Given the description of an element on the screen output the (x, y) to click on. 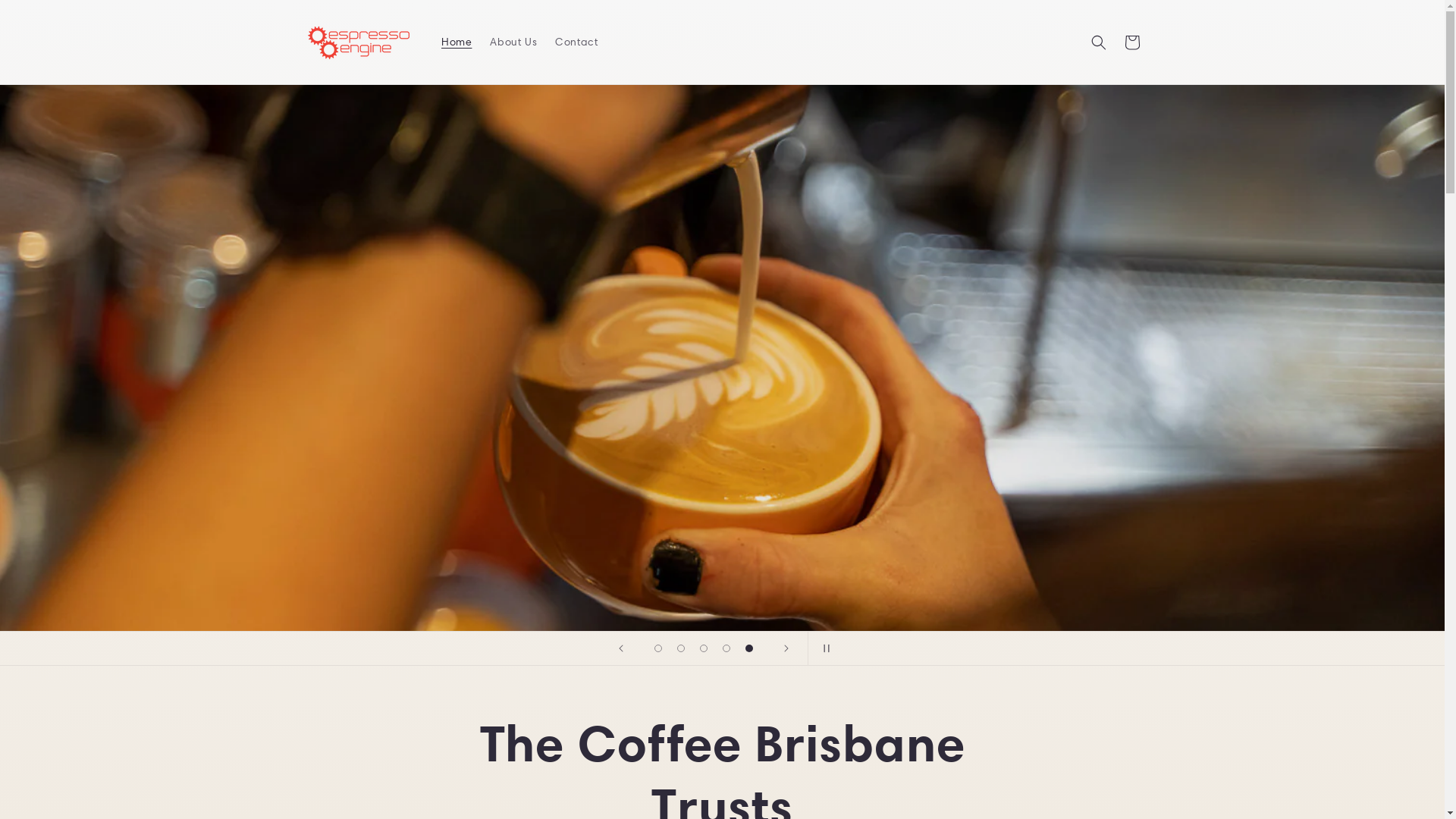
Cart Element type: text (1131, 42)
Contact Element type: text (576, 41)
About Us Element type: text (513, 41)
Home Element type: text (456, 41)
